Given the description of an element on the screen output the (x, y) to click on. 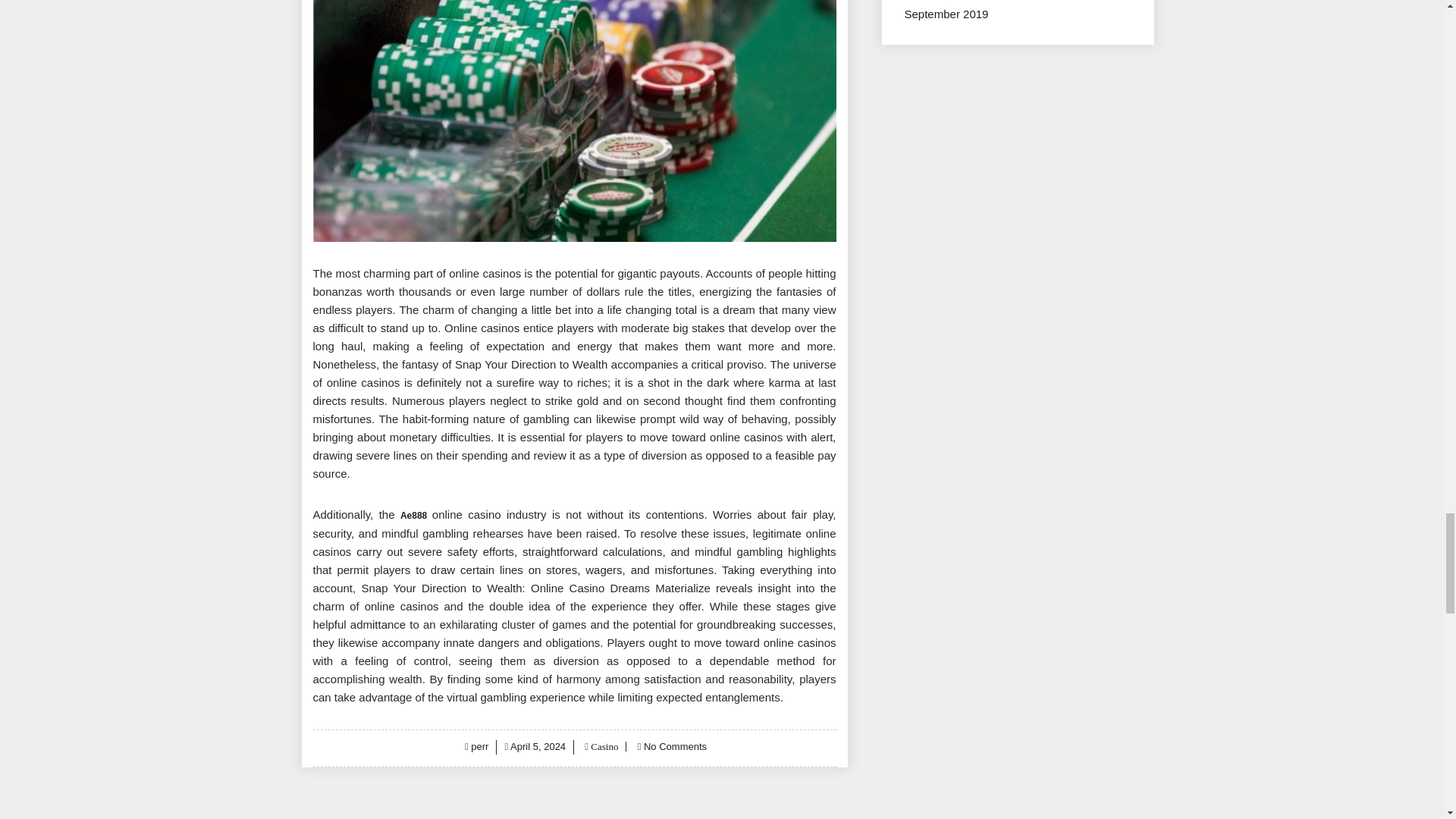
perr (478, 746)
April 5, 2024 (538, 746)
Casino (602, 746)
No Comments (674, 746)
Ae888 (413, 515)
